Given the description of an element on the screen output the (x, y) to click on. 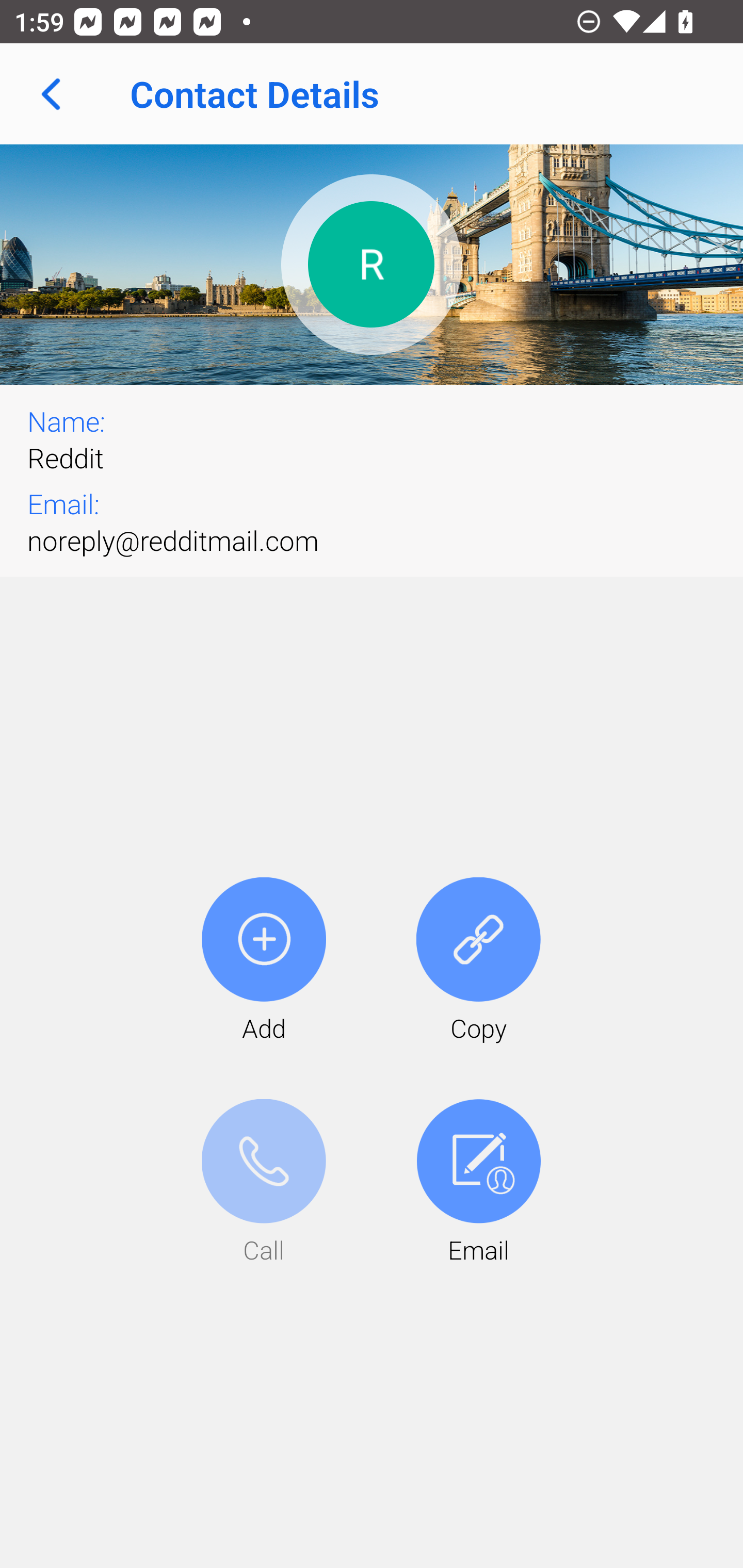
Navigate up (50, 93)
Add (264, 961)
Copy (478, 961)
Call (264, 1182)
Email (478, 1182)
